Given the description of an element on the screen output the (x, y) to click on. 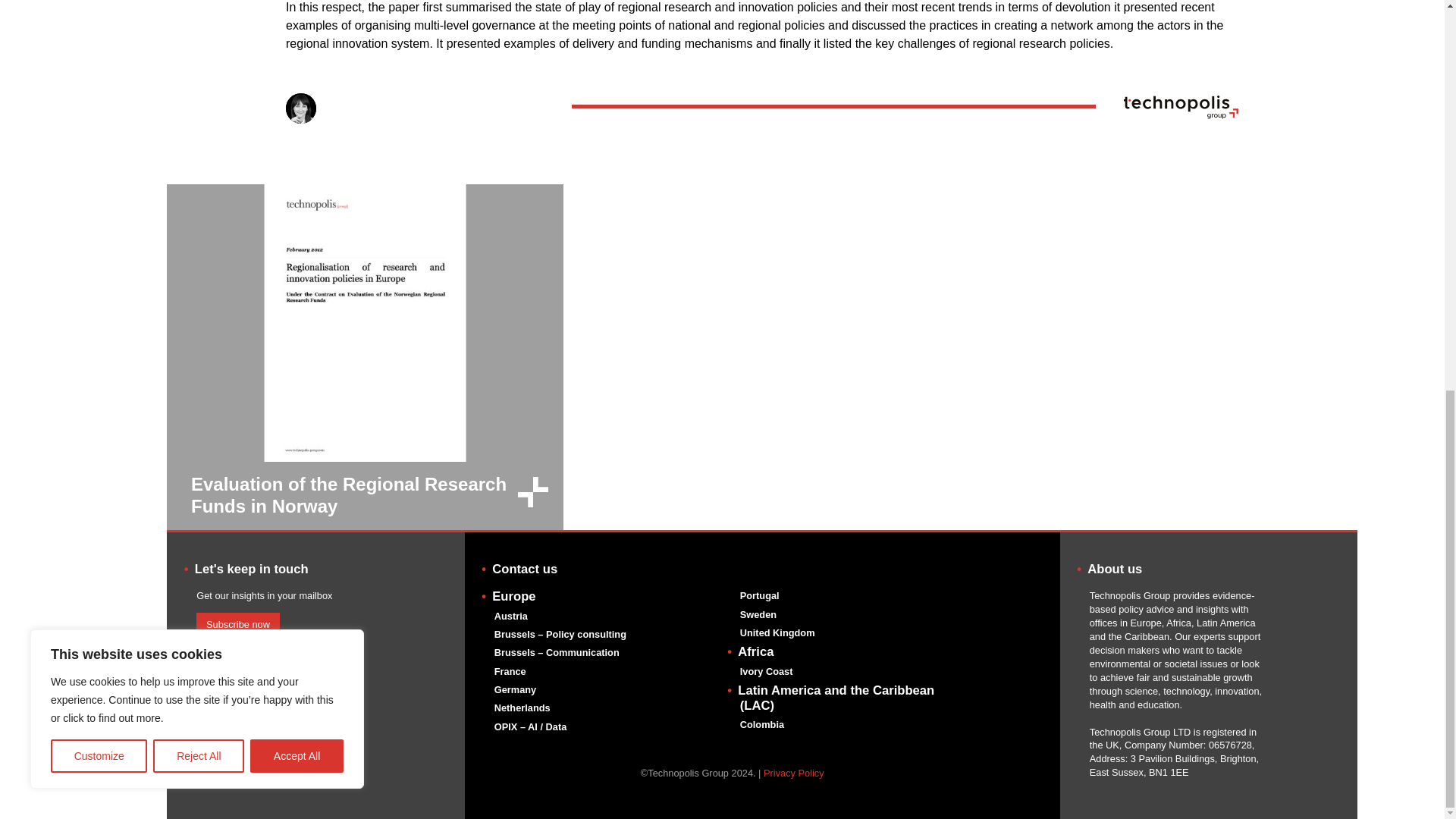
Twitter (229, 676)
LinkedIn (203, 676)
Reject All (198, 14)
Accept All (296, 14)
Austria (511, 615)
Customize (98, 14)
